Given the description of an element on the screen output the (x, y) to click on. 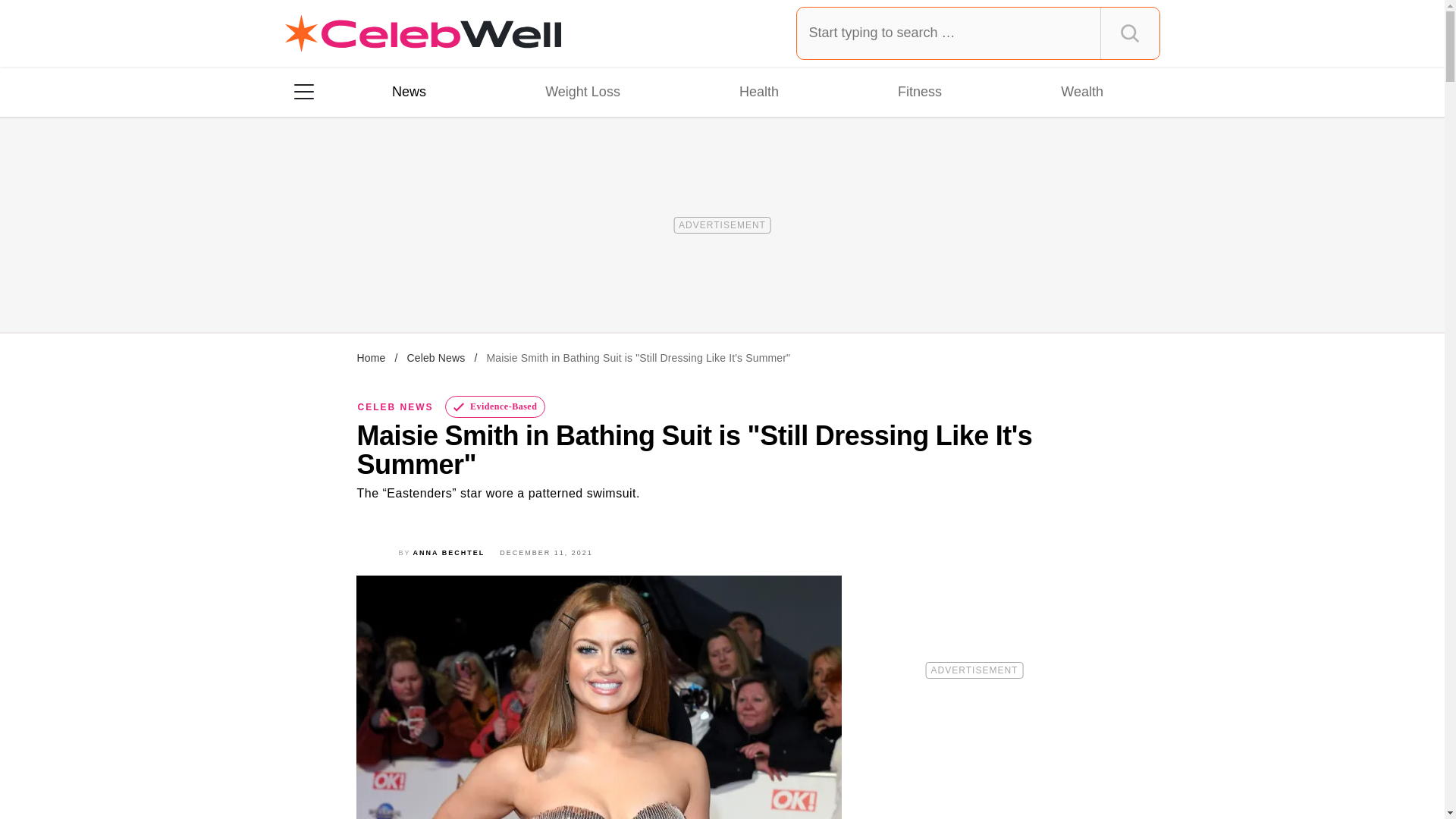
ANNA BECHTEL (448, 552)
Wealth (1081, 91)
Type and press Enter to search (978, 32)
Evidence-Based (495, 406)
Health (758, 91)
Home (370, 357)
Fitness (919, 91)
News (408, 91)
Weight Loss (582, 91)
Celeb News (435, 357)
CELEB NEWS (395, 407)
Celebwell Homepage (422, 33)
Posts by Anna Bechtel (448, 552)
